Given the description of an element on the screen output the (x, y) to click on. 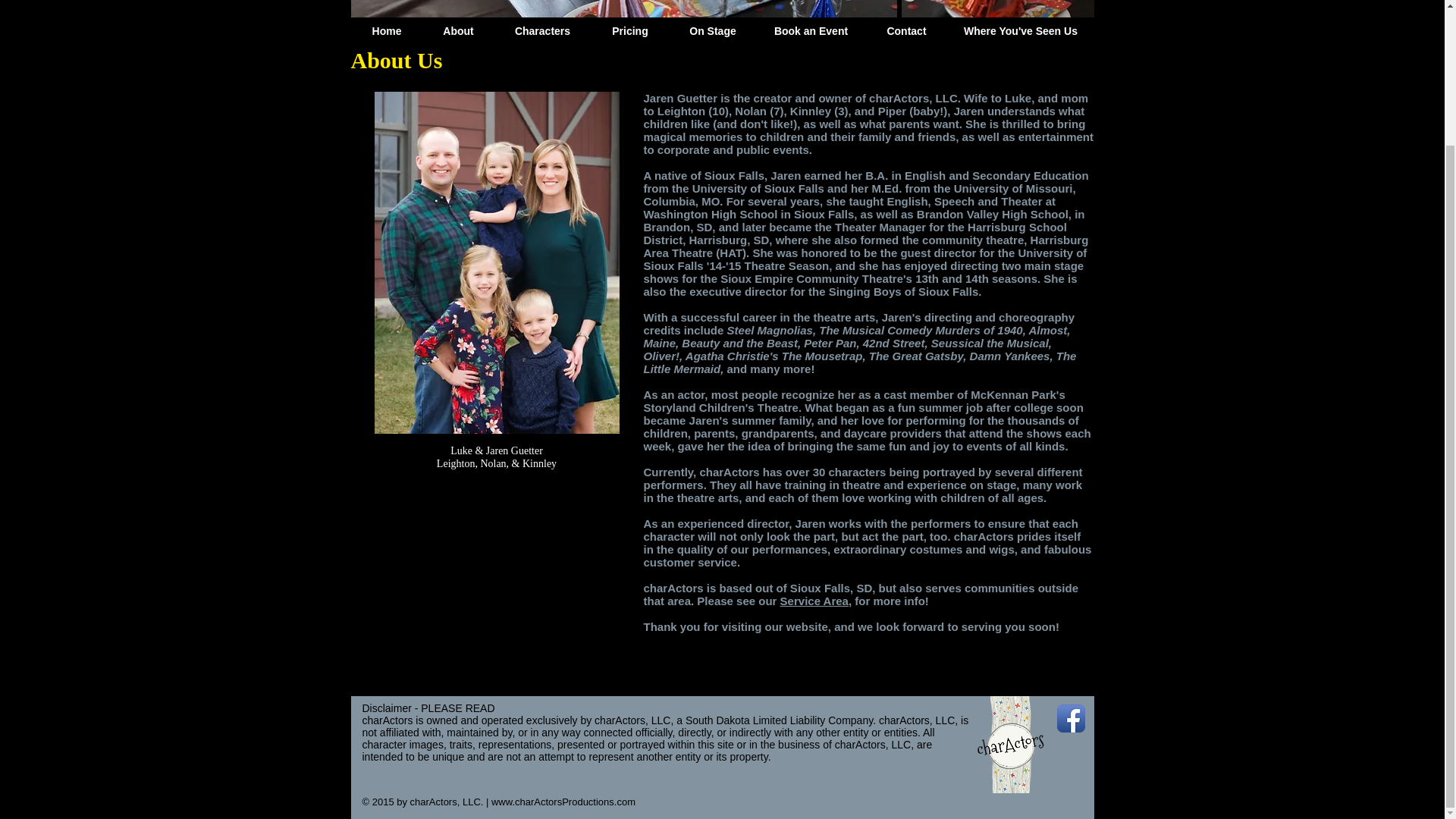
www.charActorsProductions.com (563, 801)
Where You've Seen Us (1019, 31)
Service Area (814, 600)
Contact (906, 31)
On Stage (711, 31)
Home (387, 31)
